Given the description of an element on the screen output the (x, y) to click on. 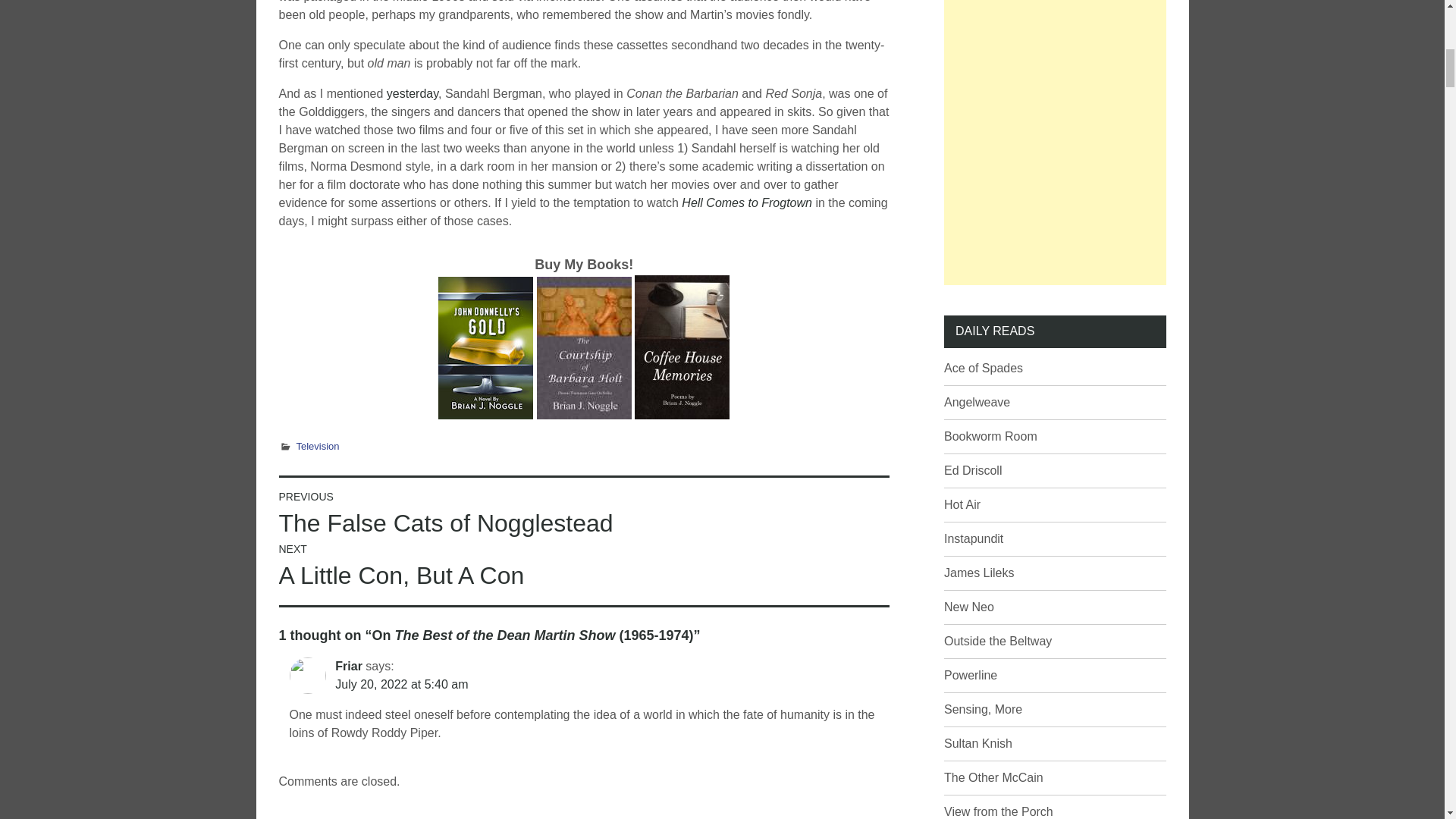
James Lileks (978, 572)
Angelweave (976, 401)
Sensing, More (982, 708)
New Neo (968, 606)
Hell Comes to Frogtown (746, 202)
Ace of Spades (983, 367)
Friar (348, 666)
July 20, 2022 at 5:40 am (400, 684)
yesterday (412, 92)
Instapundit (973, 538)
Powerline (445, 514)
Outside the Beltway (970, 675)
Hot Air (997, 640)
Television (961, 504)
